Given the description of an element on the screen output the (x, y) to click on. 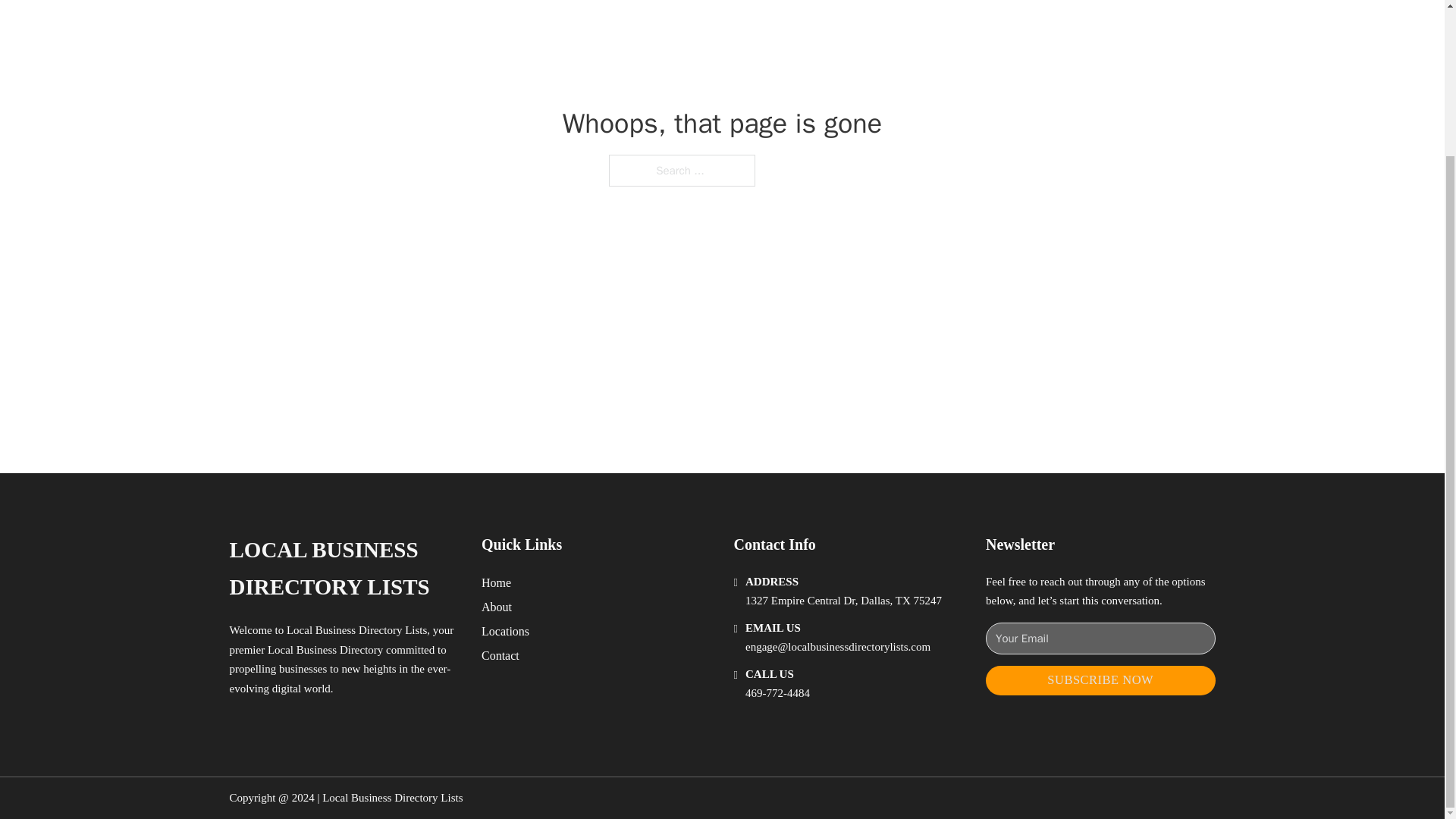
About (496, 607)
Contact (500, 655)
Home (496, 582)
SUBSCRIBE NOW (1100, 680)
Locations (505, 630)
469-772-4484 (777, 693)
LOCAL BUSINESS DIRECTORY LISTS (343, 568)
